Given the description of an element on the screen output the (x, y) to click on. 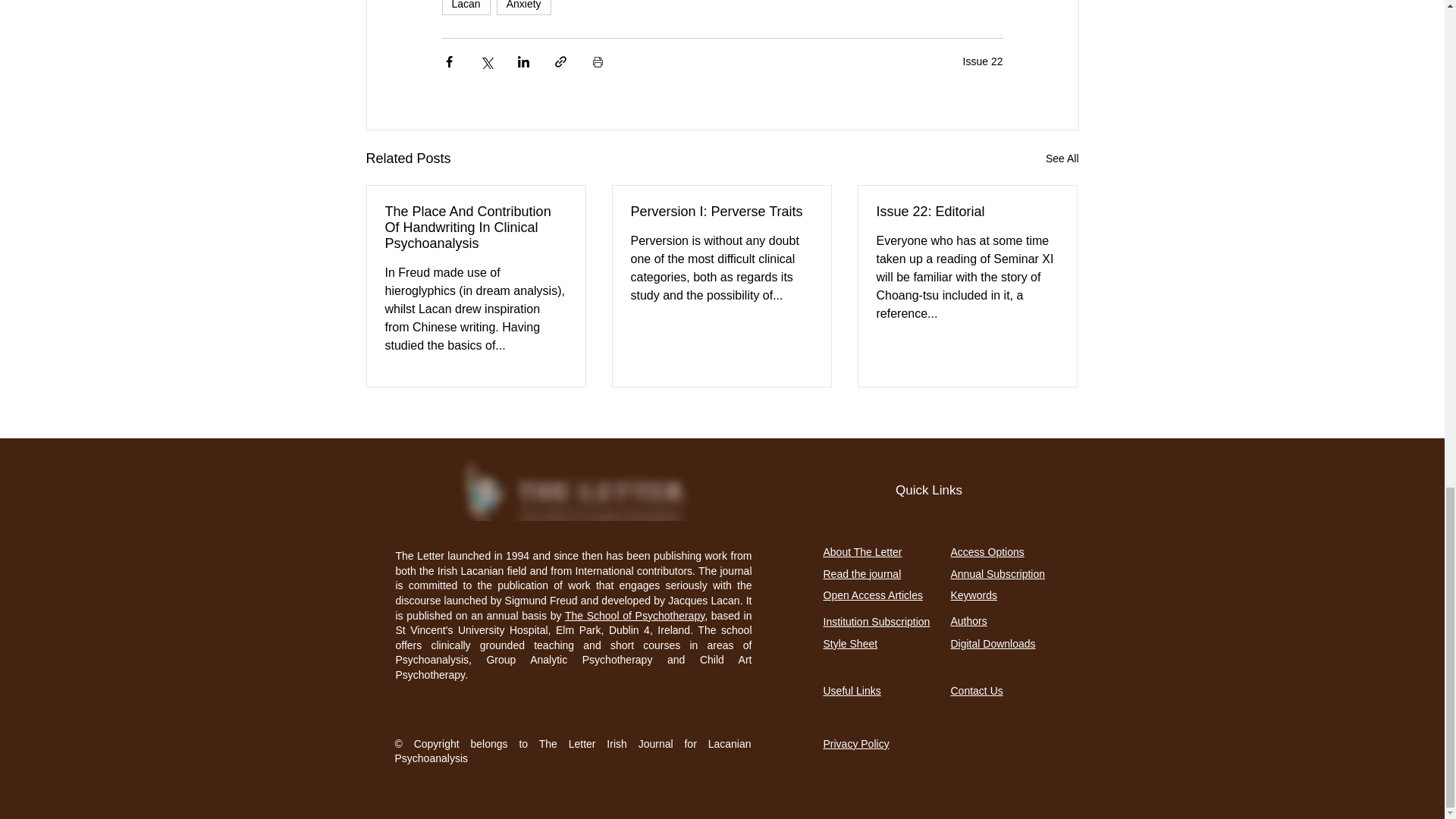
Anxiety (523, 7)
Issue 22 (982, 61)
Lacan (465, 7)
See All (1061, 158)
